Given the description of an element on the screen output the (x, y) to click on. 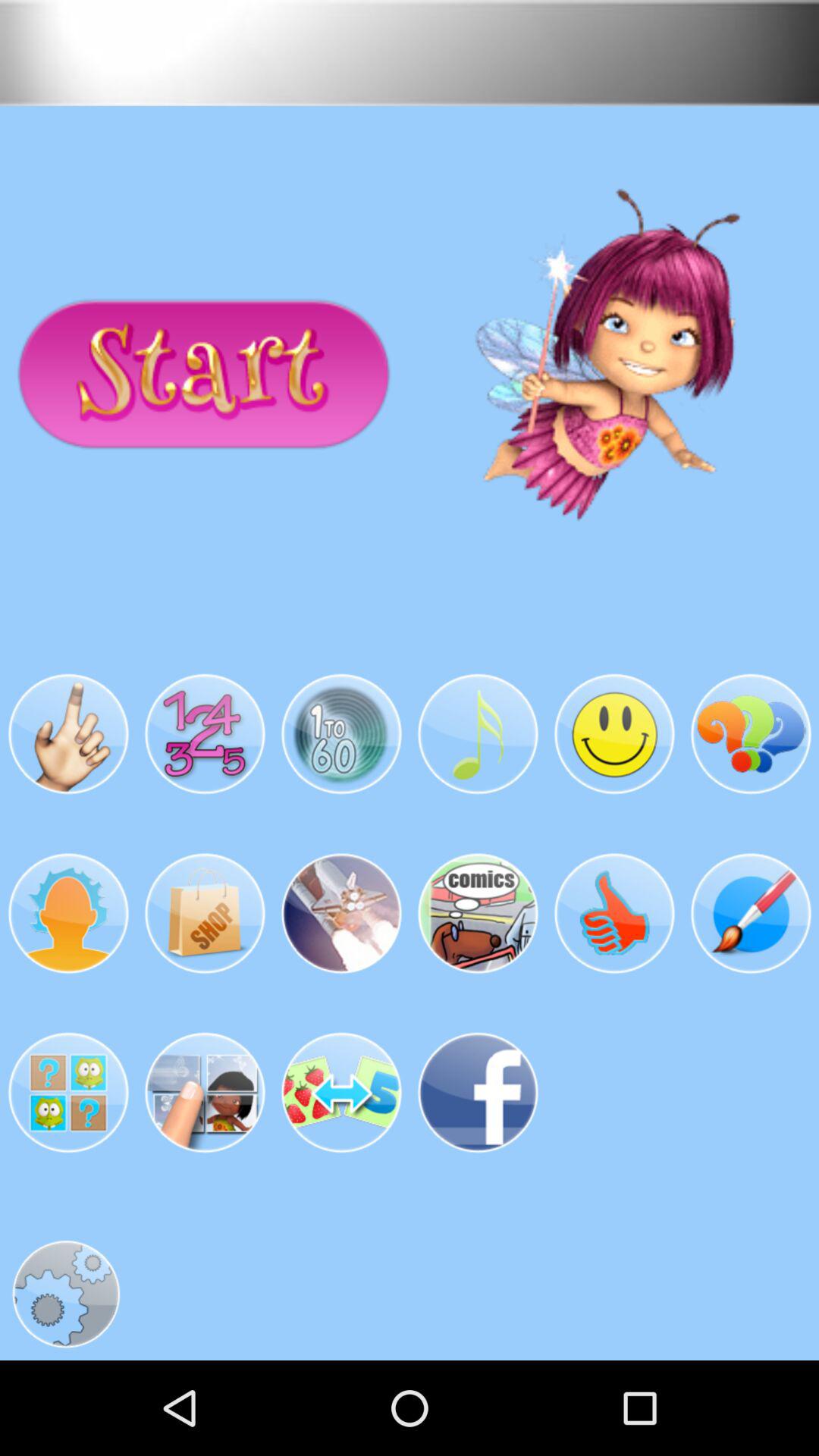
click the image in third line second image (204, 1092)
select the last but third icon of the page (204, 1092)
click on the second image in the second row (204, 913)
click on the image which is below to emoji image (614, 913)
click the settings icon at the left bottom corner of the page (65, 1294)
click the fourth image in the second row from the left (477, 913)
the last image in the second row from the bottom of the page (477, 1092)
select the 5th circular shaped emoji image from the web page (614, 734)
click on the 1st image from right in the 1st row of symbols below start (750, 734)
click on the 3rd image from left in the second row of symbols below start (340, 913)
select the 2nd circular shaped image below the start button on the web page (204, 734)
click on thumps up icon (614, 913)
